Given the description of an element on the screen output the (x, y) to click on. 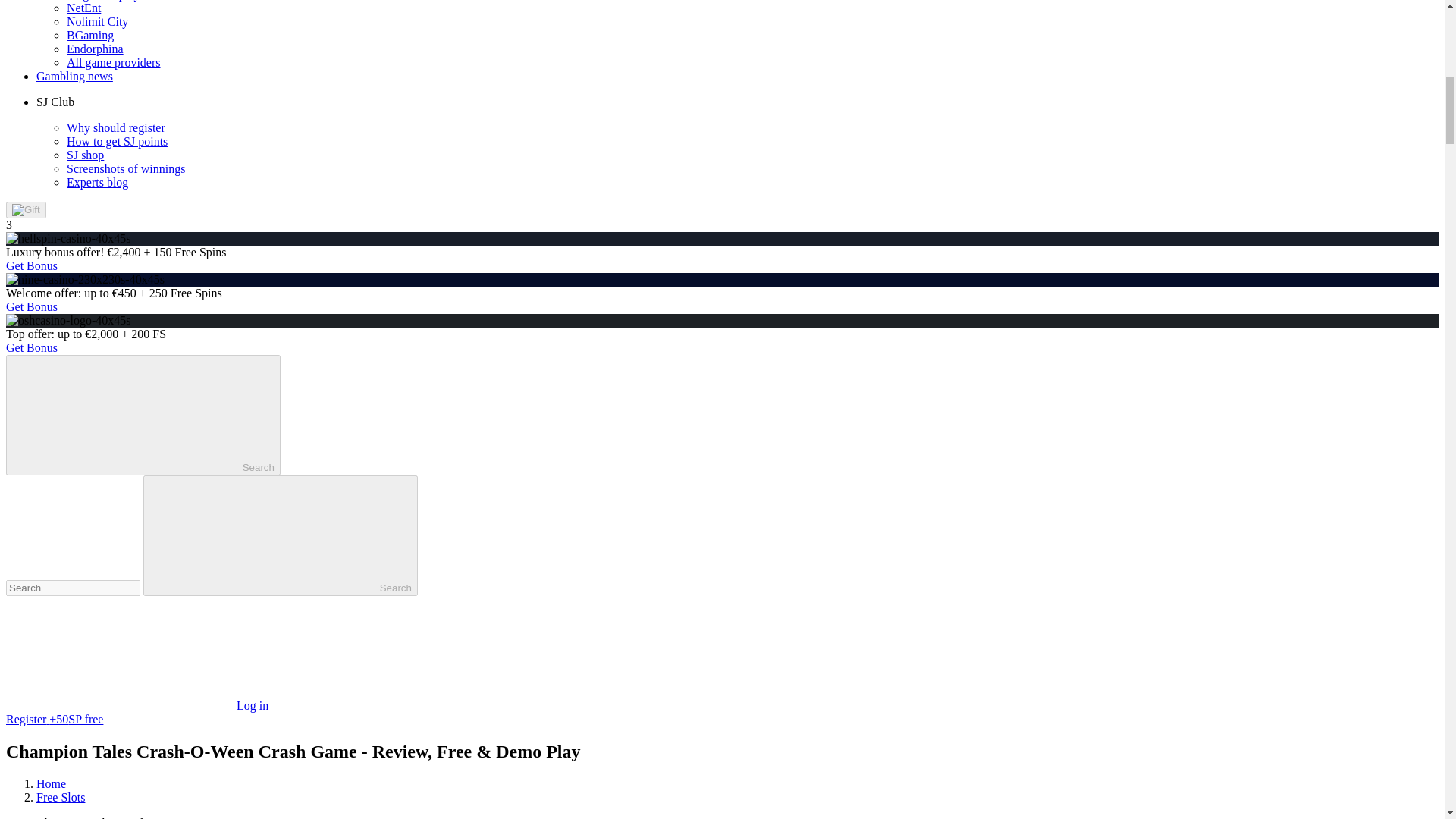
submit (279, 535)
NetEnt (83, 7)
Pragmatic play (102, 0)
